Given the description of an element on the screen output the (x, y) to click on. 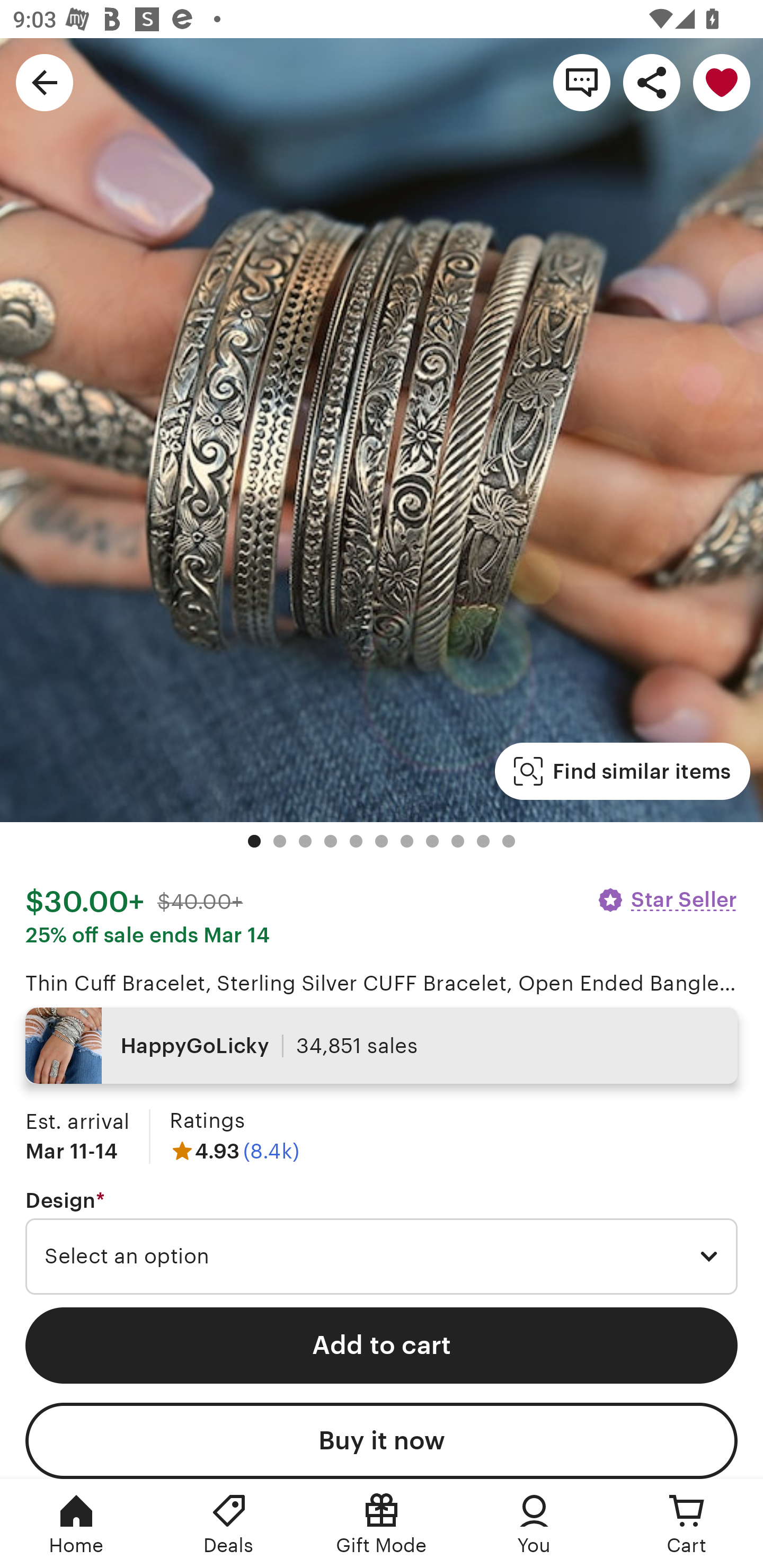
Navigate up (44, 81)
Contact shop (581, 81)
Share (651, 81)
Find similar items (622, 771)
Star Seller (666, 899)
HappyGoLicky 34,851 sales (381, 1045)
Ratings (206, 1120)
4.93 (8.4k) (234, 1150)
Design * Required Select an option (381, 1241)
Select an option (381, 1256)
Add to cart (381, 1344)
Buy it now (381, 1440)
Deals (228, 1523)
Gift Mode (381, 1523)
You (533, 1523)
Cart (686, 1523)
